Given the description of an element on the screen output the (x, y) to click on. 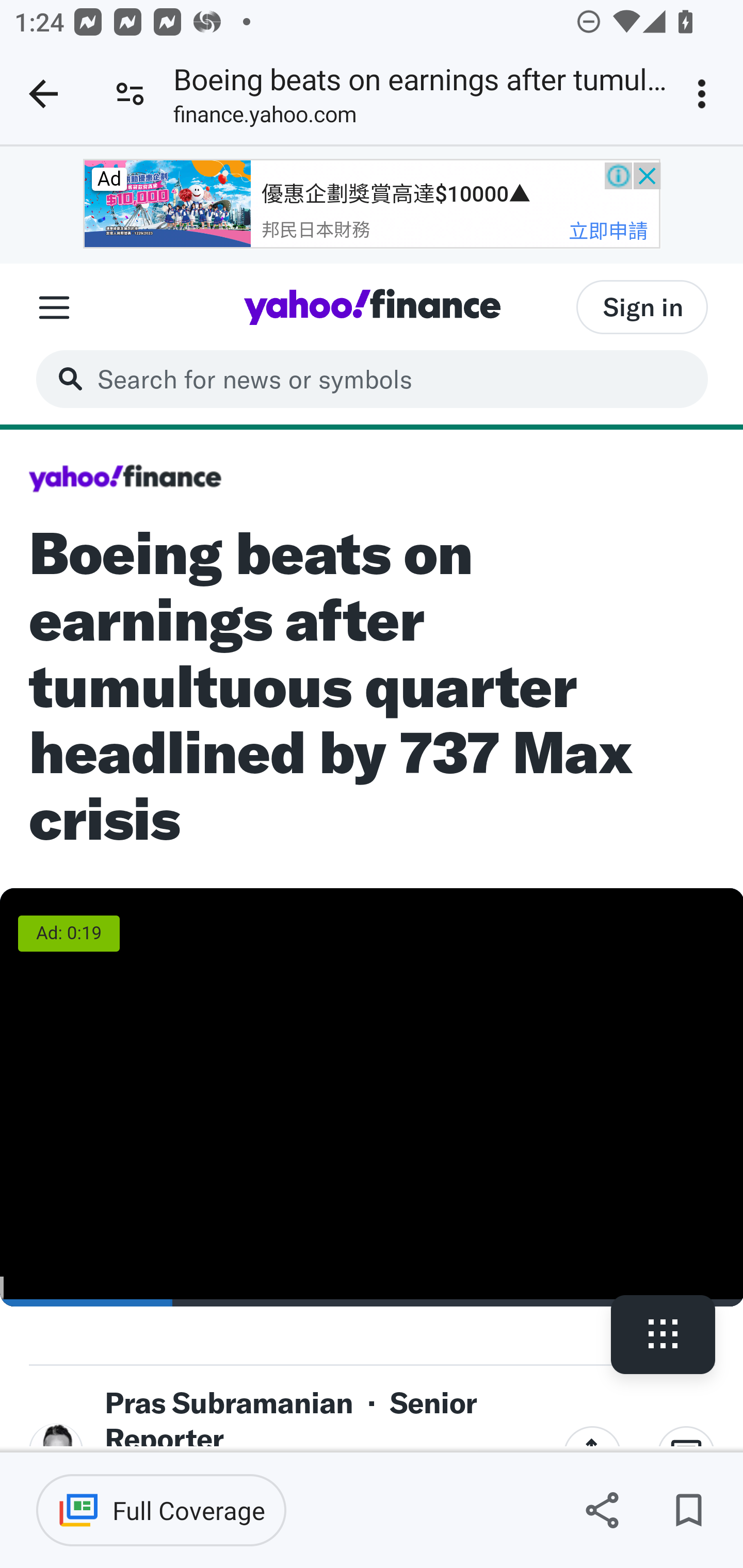
Close tab (43, 93)
Customize and control Google Chrome (705, 93)
Connection is secure (129, 93)
finance.yahoo.com (264, 117)
優惠企劃獎賞高達$10000▲ (395, 193)
邦民日本財務 (316, 229)
立即申請 (606, 230)
Yahoo Finance (372, 306)
Sign in (641, 306)
Y! Sites (54, 307)
Yahoo Finance (125, 478)
Pras Subramanian (228, 1401)
Full Coverage (161, 1509)
Share (601, 1510)
Save for later (688, 1510)
